Given the description of an element on the screen output the (x, y) to click on. 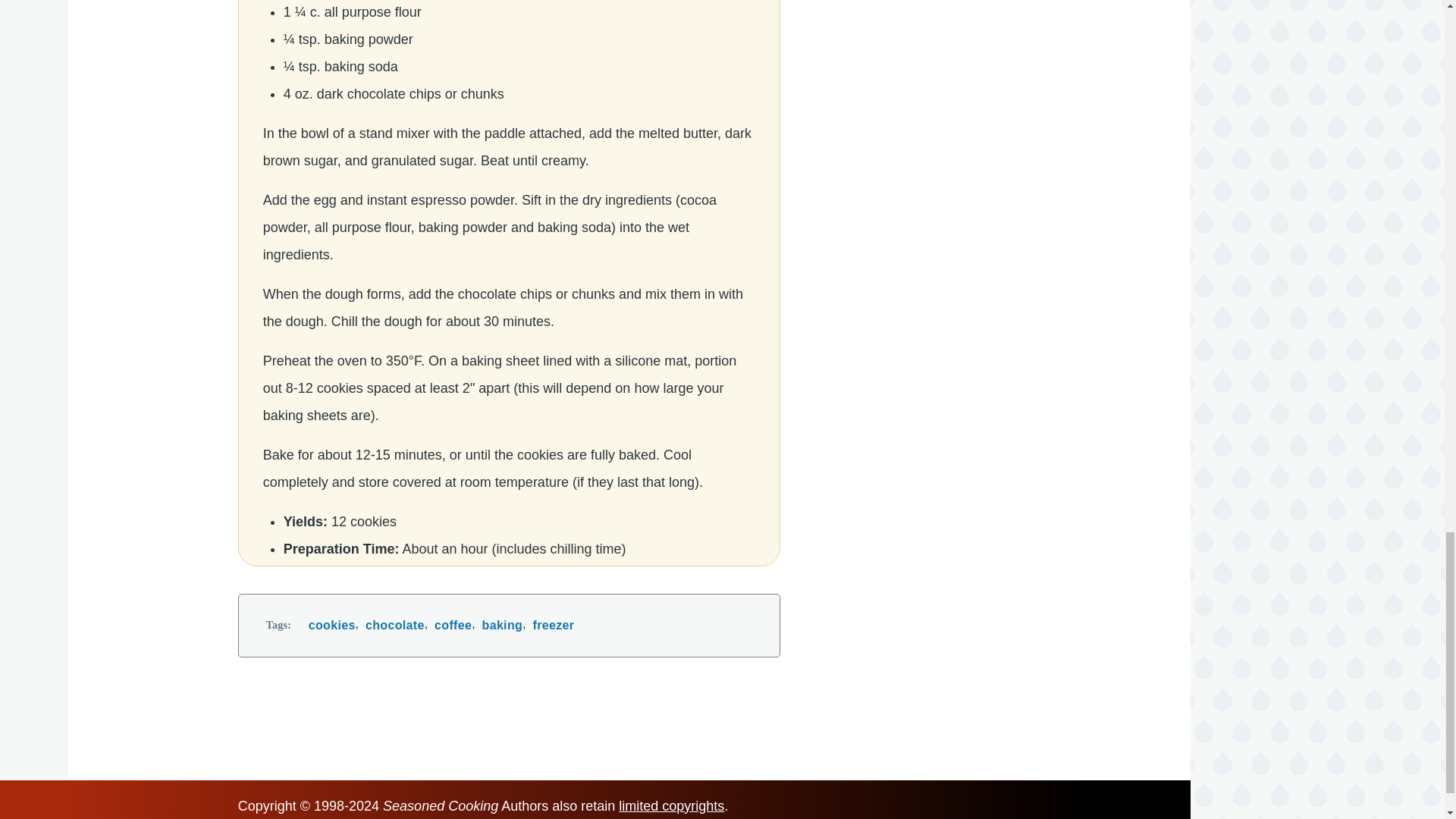
limited copyrights (670, 806)
chocolate (395, 625)
cookies (331, 625)
freezer (553, 625)
baking (501, 625)
coffee (452, 625)
